Given the description of an element on the screen output the (x, y) to click on. 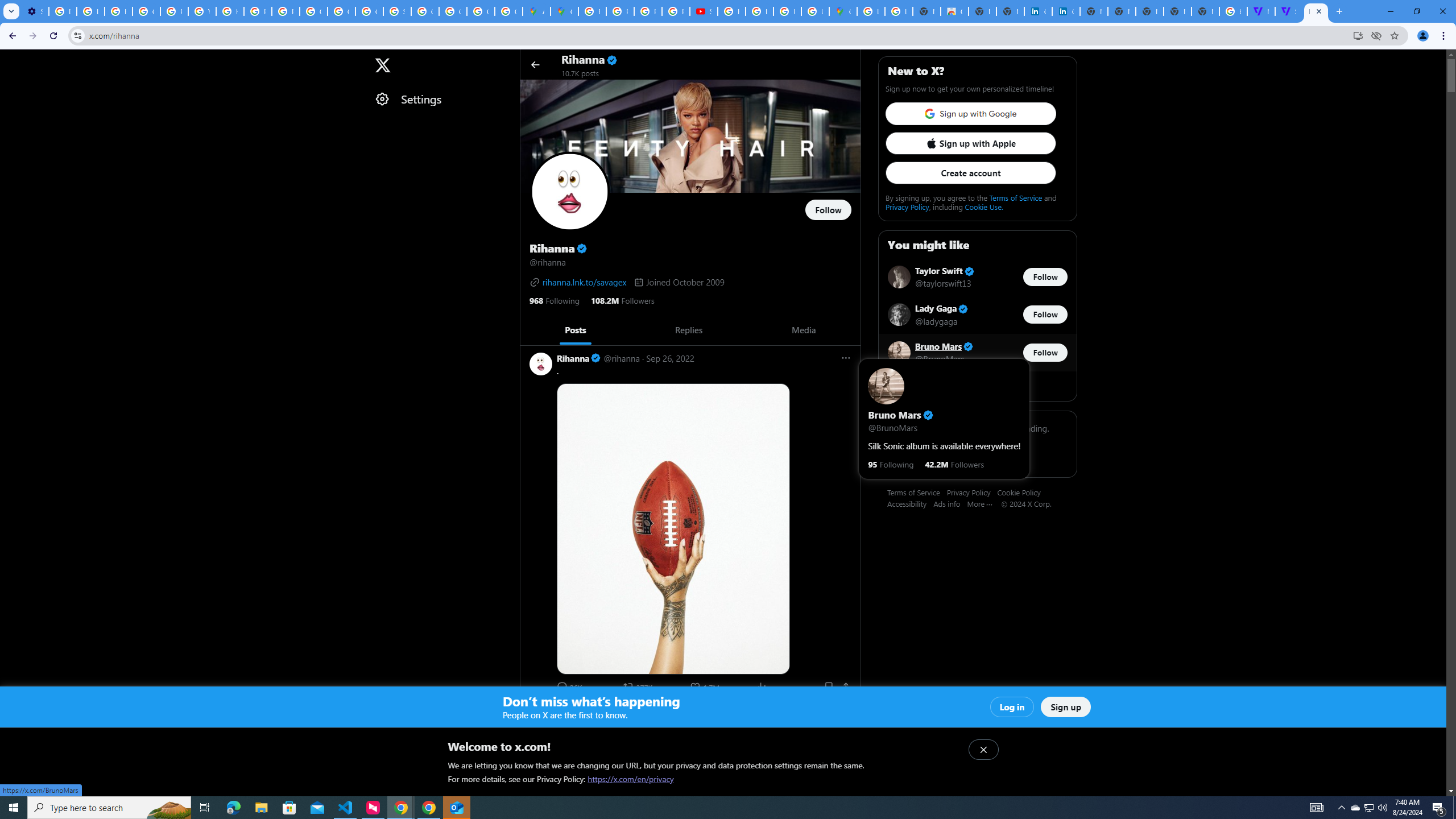
Skip to home timeline (10, 59)
Sep 26, 2022 (670, 357)
Sign up (1065, 706)
Bruno Mars Verified account @BrunoMars Follow @BrunoMars (977, 352)
Previous (532, 329)
More (983, 503)
Privacy Help Center - Policies Help (647, 11)
Taylor Swift Verified account (945, 271)
rihanna.lnk.to/savagex (577, 281)
Follow @taylorswift13 (1045, 276)
Log in (1012, 706)
Privacy Help Center - Policies Help (174, 11)
